Given the description of an element on the screen output the (x, y) to click on. 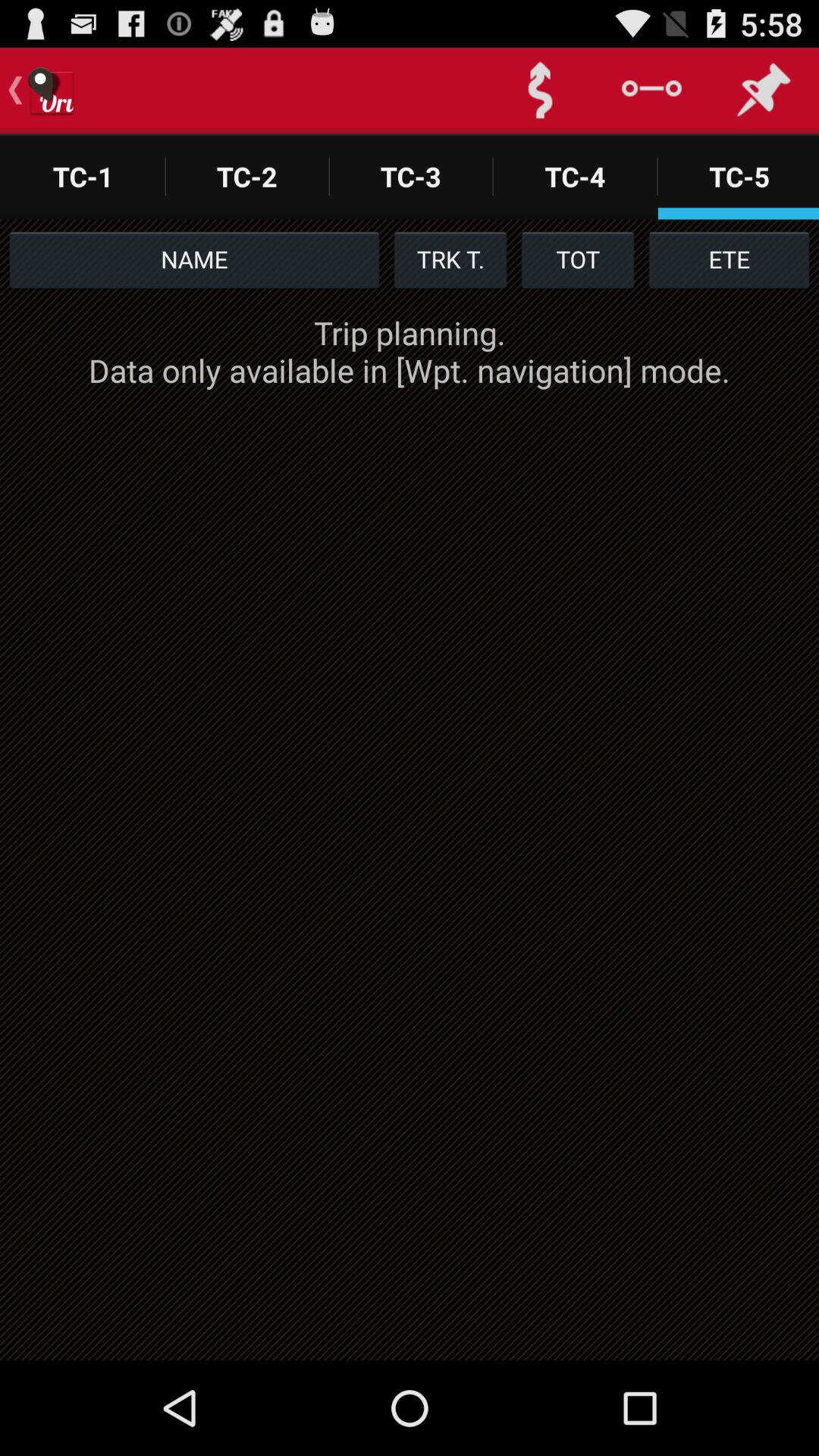
choose the icon above the trip planning data (577, 259)
